Given the description of an element on the screen output the (x, y) to click on. 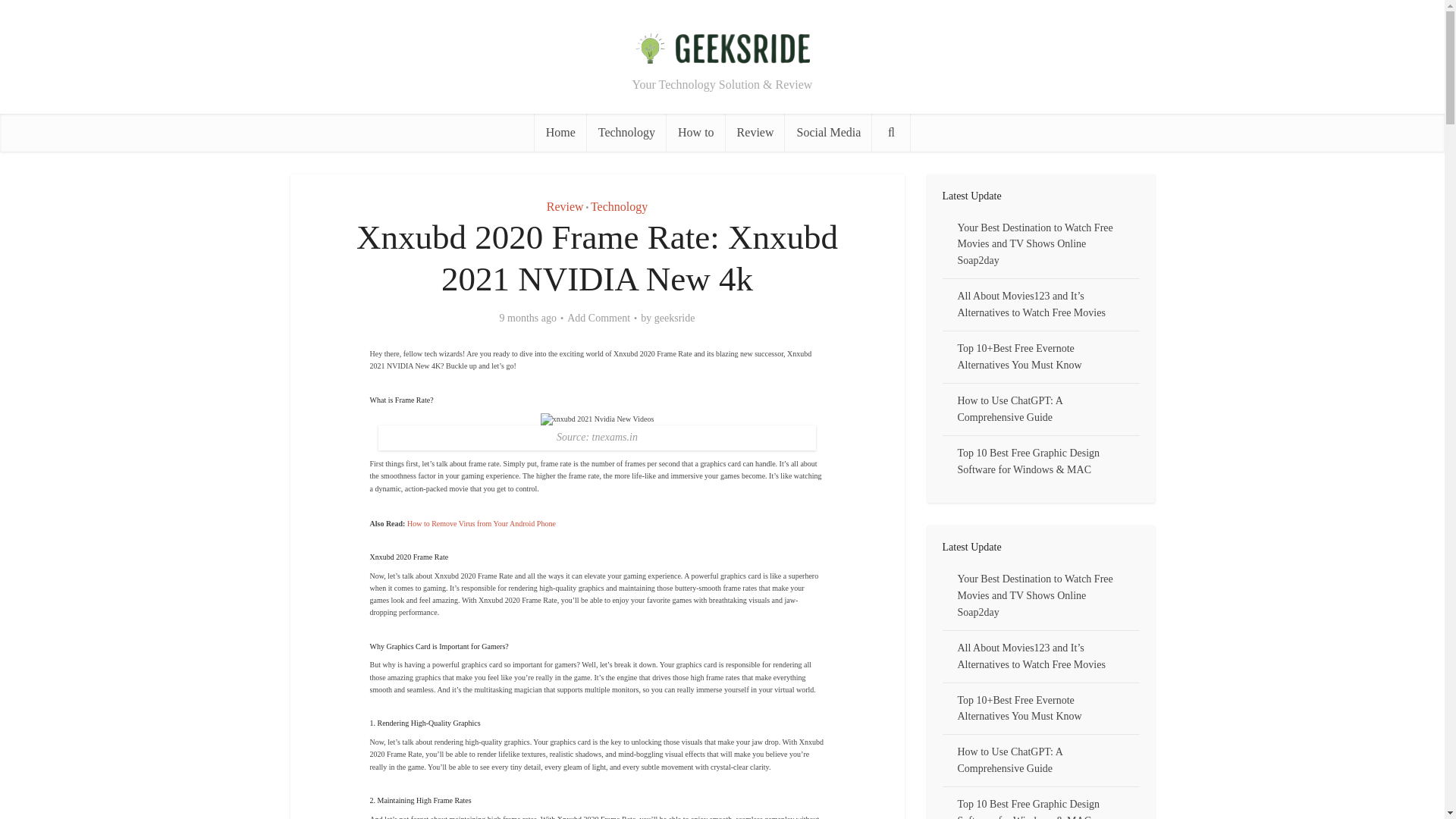
How to (695, 132)
Technology (619, 205)
Social Media (828, 132)
Home (560, 132)
Review (565, 205)
Add Comment (598, 318)
Review (755, 132)
Technology (626, 132)
geeksride (674, 318)
How to Remove Virus from Your Android Phone (481, 523)
